Given the description of an element on the screen output the (x, y) to click on. 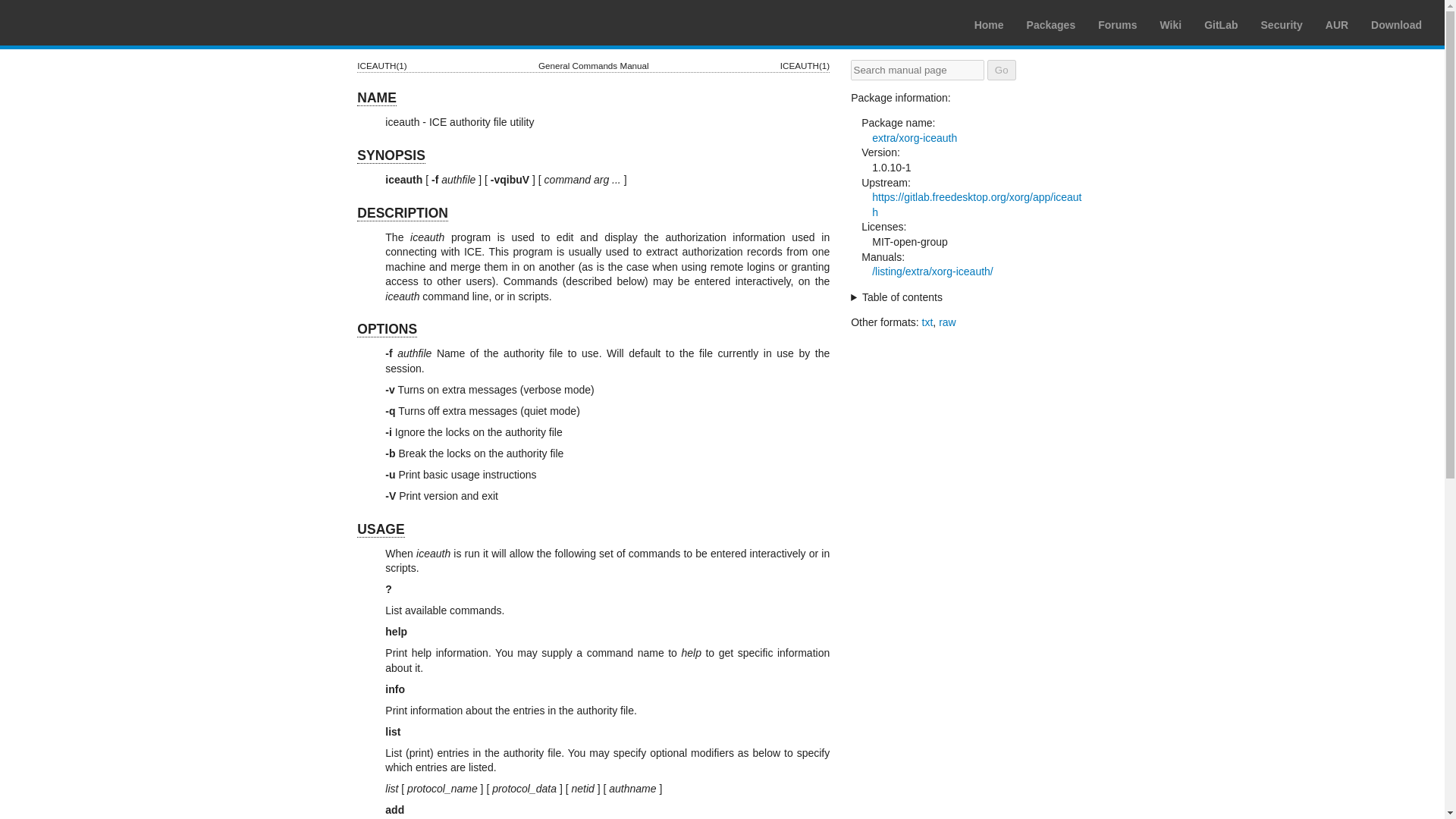
DESCRIPTION (402, 213)
GitLab (1220, 24)
Home (989, 24)
NAME (376, 98)
Arch Package Database (1050, 24)
Security (1281, 24)
Arch Linux Security Tracker (1281, 24)
Go (1001, 69)
Packages (1050, 24)
AUR (1336, 24)
Return to the main page (83, 22)
Arch Linux (83, 22)
Download (1396, 24)
SYNOPSIS (390, 155)
raw (947, 322)
